Given the description of an element on the screen output the (x, y) to click on. 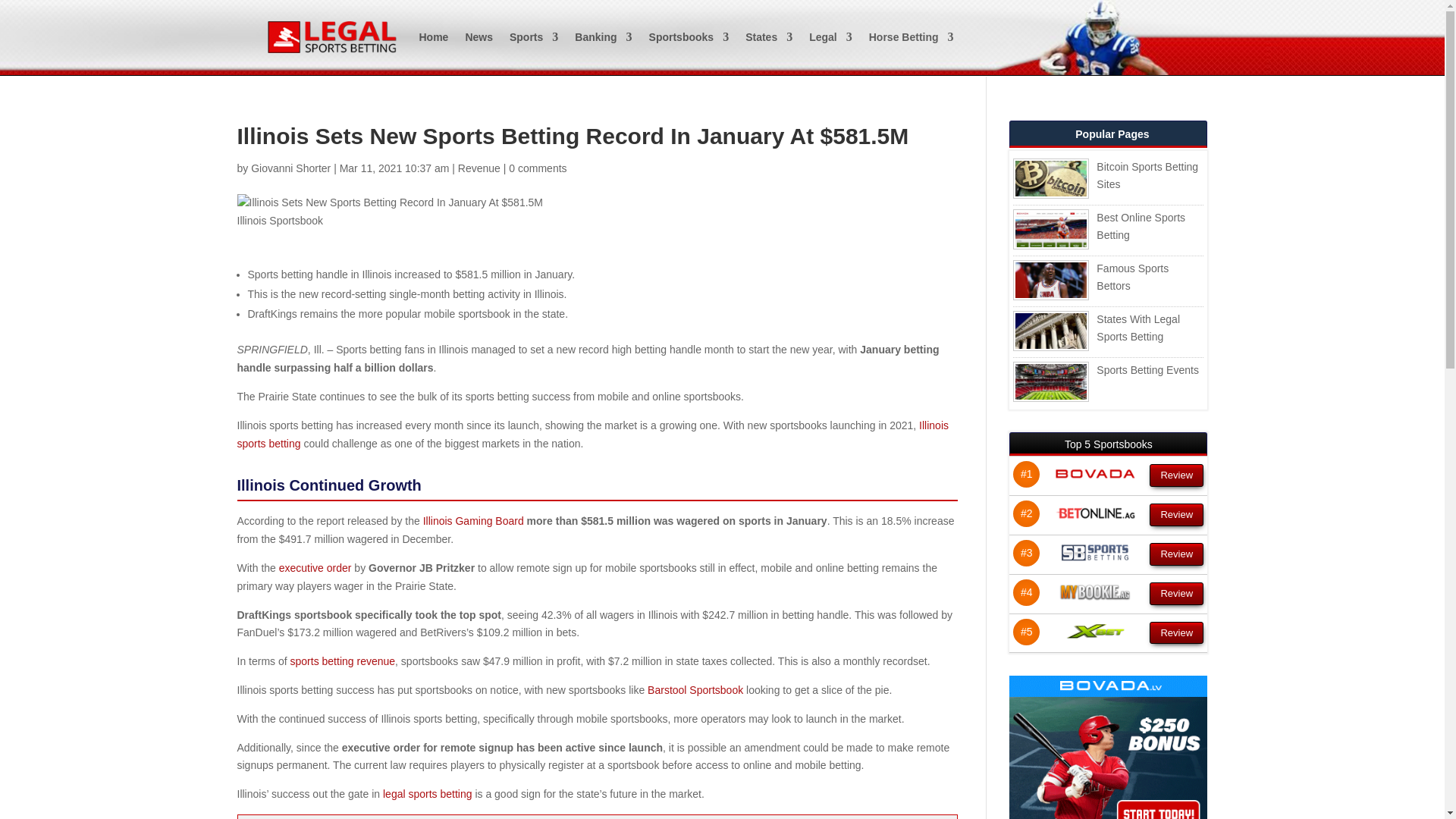
Banking (603, 37)
States (768, 37)
Posts by Giovanni Shorter (290, 168)
Home (433, 37)
Sportsbooks (689, 37)
News (478, 37)
Sports (533, 37)
